Given the description of an element on the screen output the (x, y) to click on. 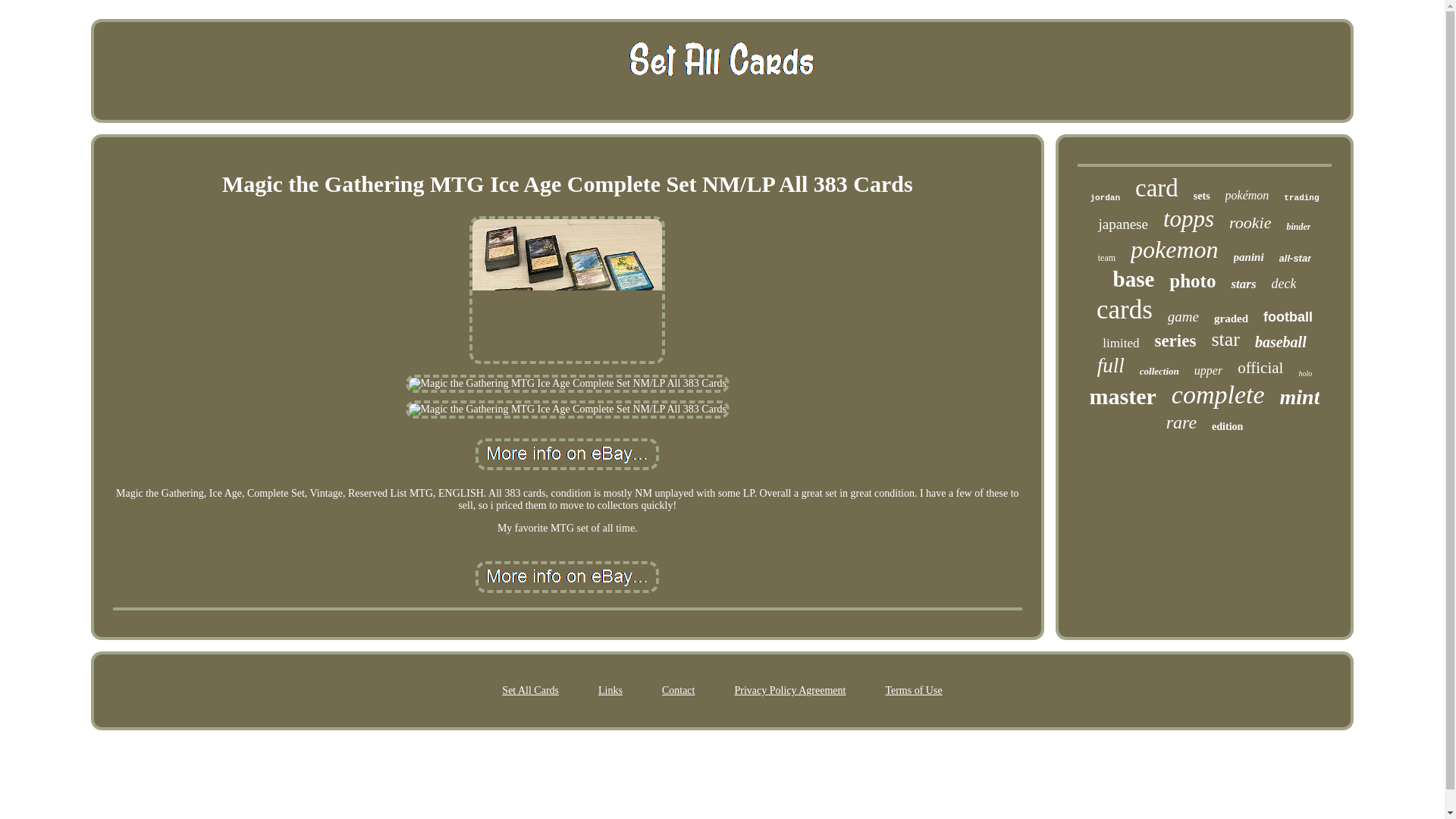
photo (1192, 281)
football (1288, 317)
base (1133, 278)
all-star (1295, 257)
card (1156, 188)
game (1182, 316)
deck (1284, 283)
limited (1120, 343)
graded (1230, 318)
binder (1297, 226)
stars (1242, 283)
japanese (1122, 224)
cards (1124, 309)
topps (1188, 218)
pokemon (1174, 249)
